Given the description of an element on the screen output the (x, y) to click on. 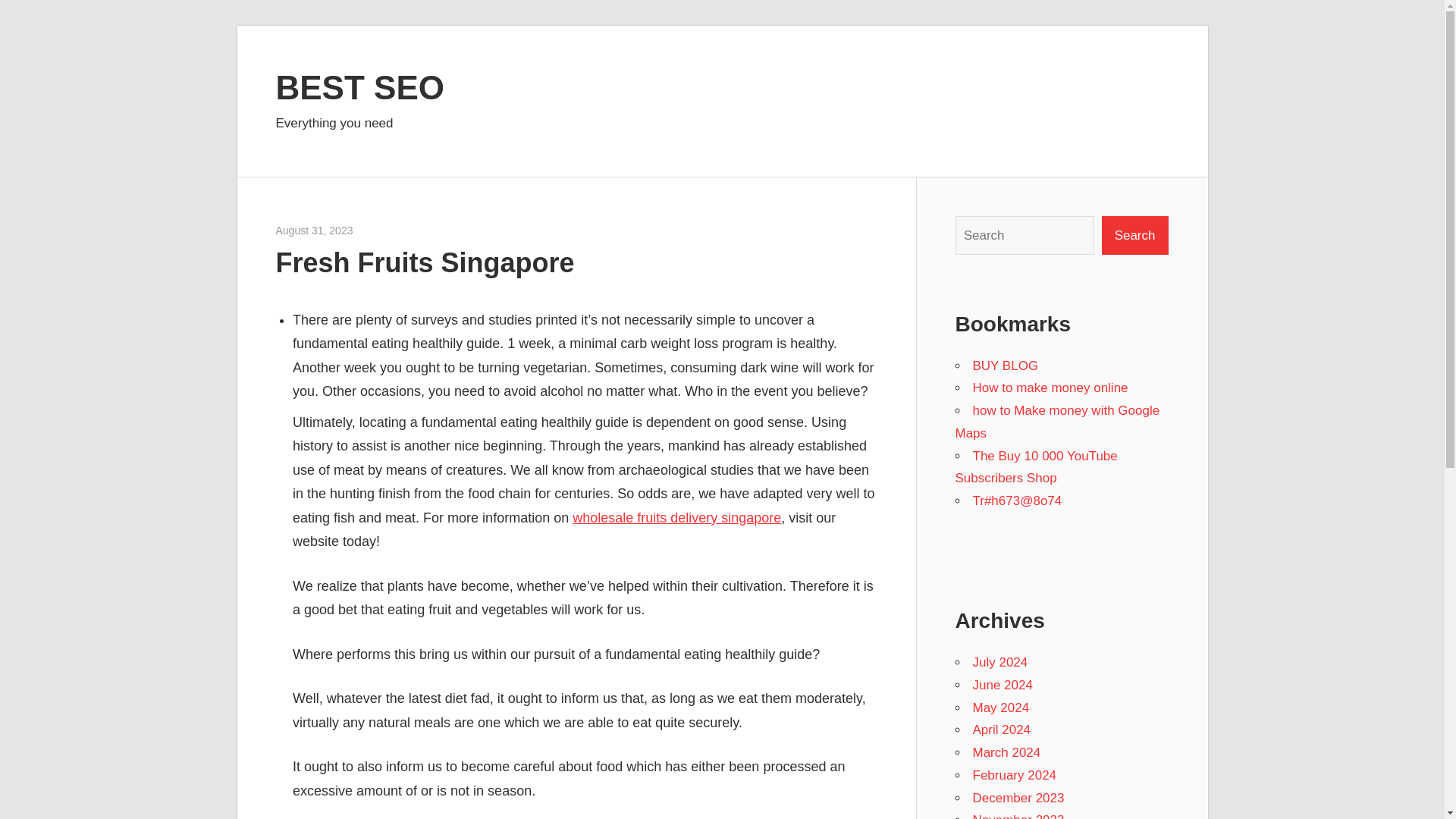
admin (366, 230)
June 2024 (1002, 685)
December 2023 (1018, 798)
July 2024 (999, 662)
wholesale fruits delivery singapore (676, 517)
April 2024 (1001, 729)
How to make money online (1049, 387)
how to Make money with Google Maps (1057, 421)
May 2024 (1000, 707)
March 2024 (1006, 752)
BEST SEO (360, 86)
6:25 pm (314, 230)
BUY BLOG (1005, 365)
August 31, 2023 (314, 230)
Search (1135, 234)
